Given the description of an element on the screen output the (x, y) to click on. 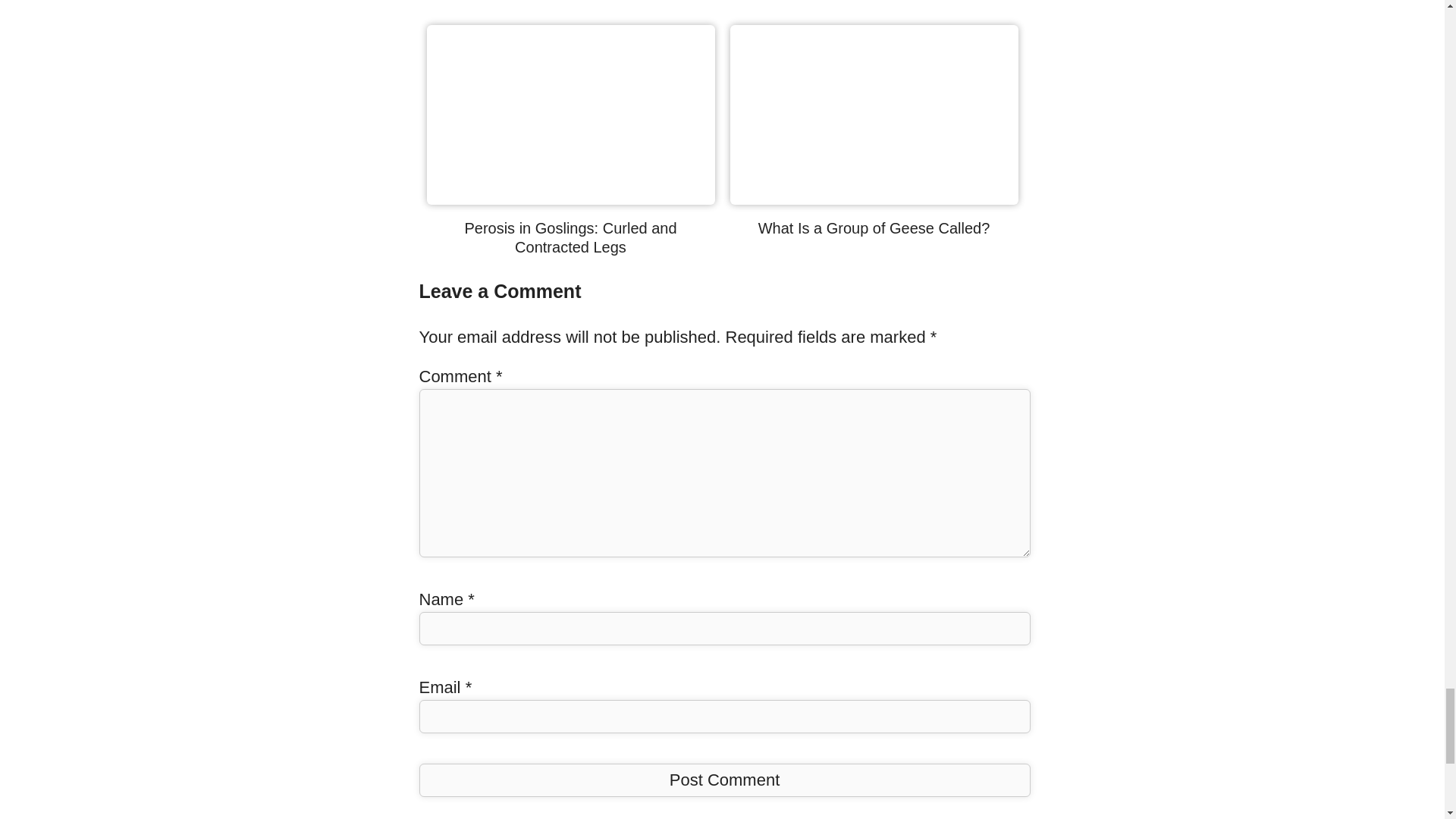
Perosis in Goslings: Curled and Contracted Legs (570, 198)
What Is a Group of Geese Called? (873, 198)
What Is a Group of Geese Called? (874, 228)
What Is a Group of Geese Called? (874, 228)
Post Comment (724, 779)
Post Comment (724, 779)
Perosis in Goslings: Curled and Contracted Legs (570, 237)
Perosis in Goslings: Curled and Contracted Legs (570, 237)
